Given the description of an element on the screen output the (x, y) to click on. 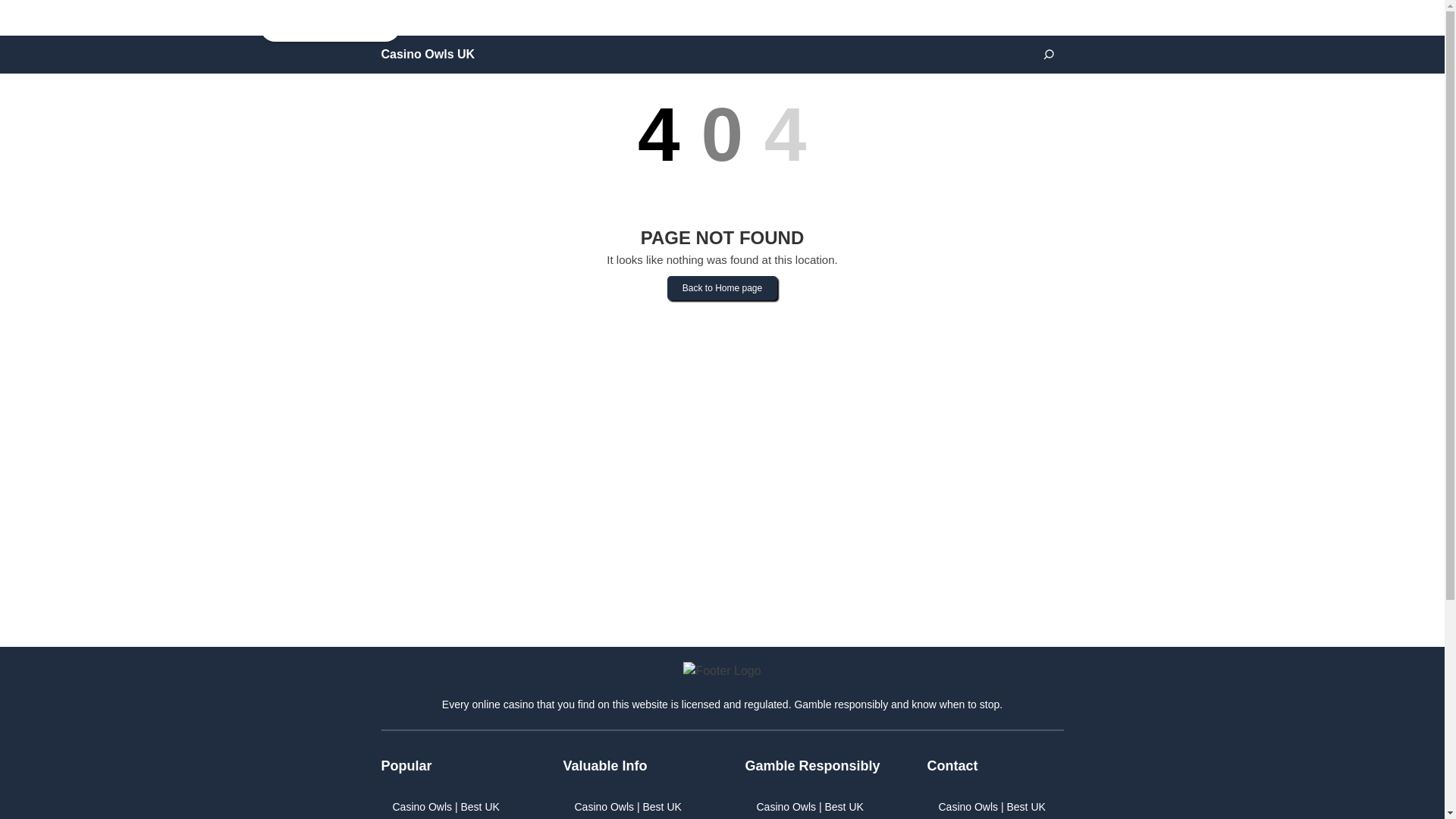
Back to Home page (721, 303)
Casino Owls UK (427, 54)
Back to Home page (721, 288)
